Given the description of an element on the screen output the (x, y) to click on. 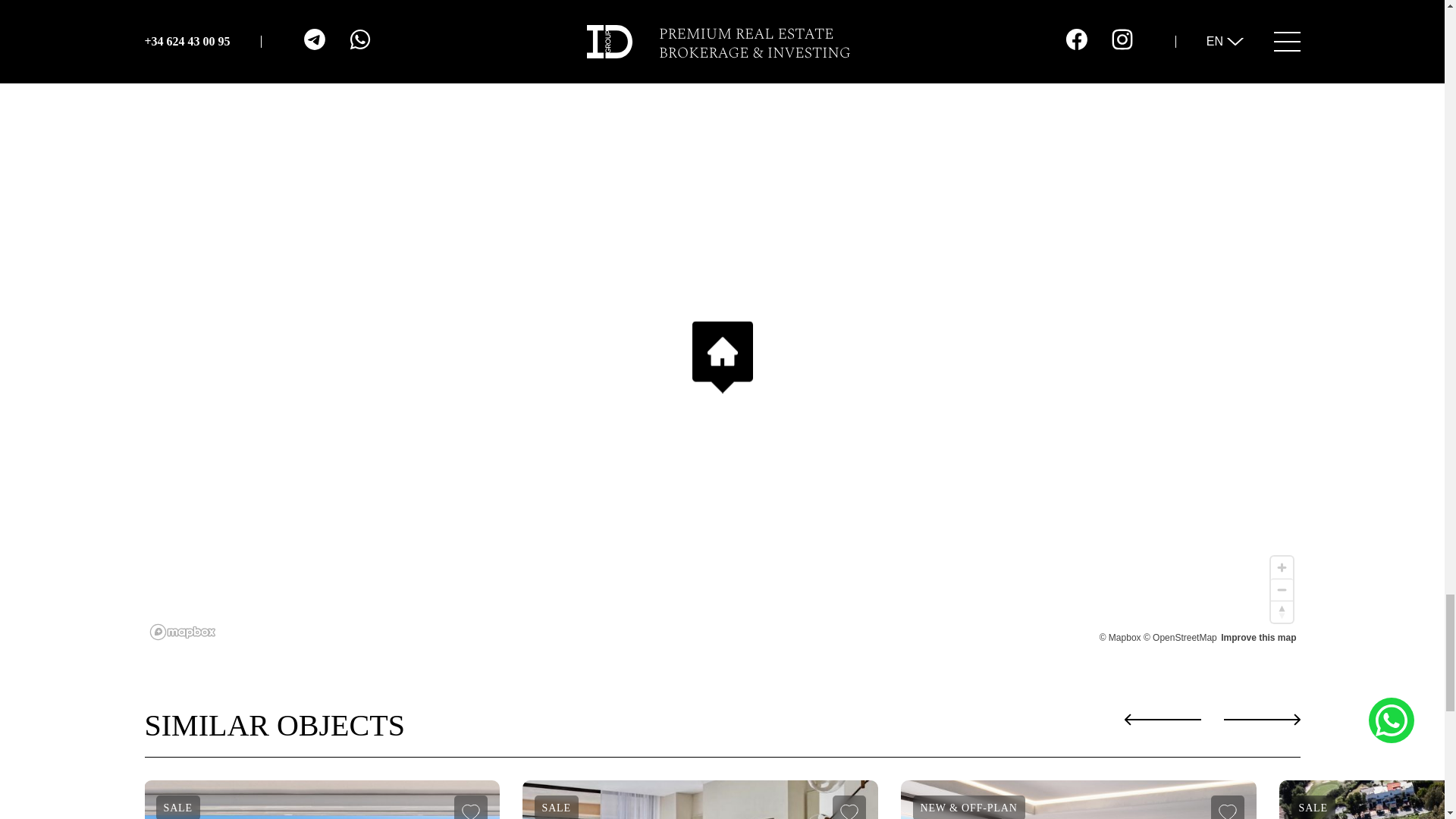
OpenStreetMap (1179, 637)
Zoom in (1281, 567)
Zoom out (1281, 589)
Reset bearing to north (1281, 611)
Mapbox (1120, 637)
